Given the description of an element on the screen output the (x, y) to click on. 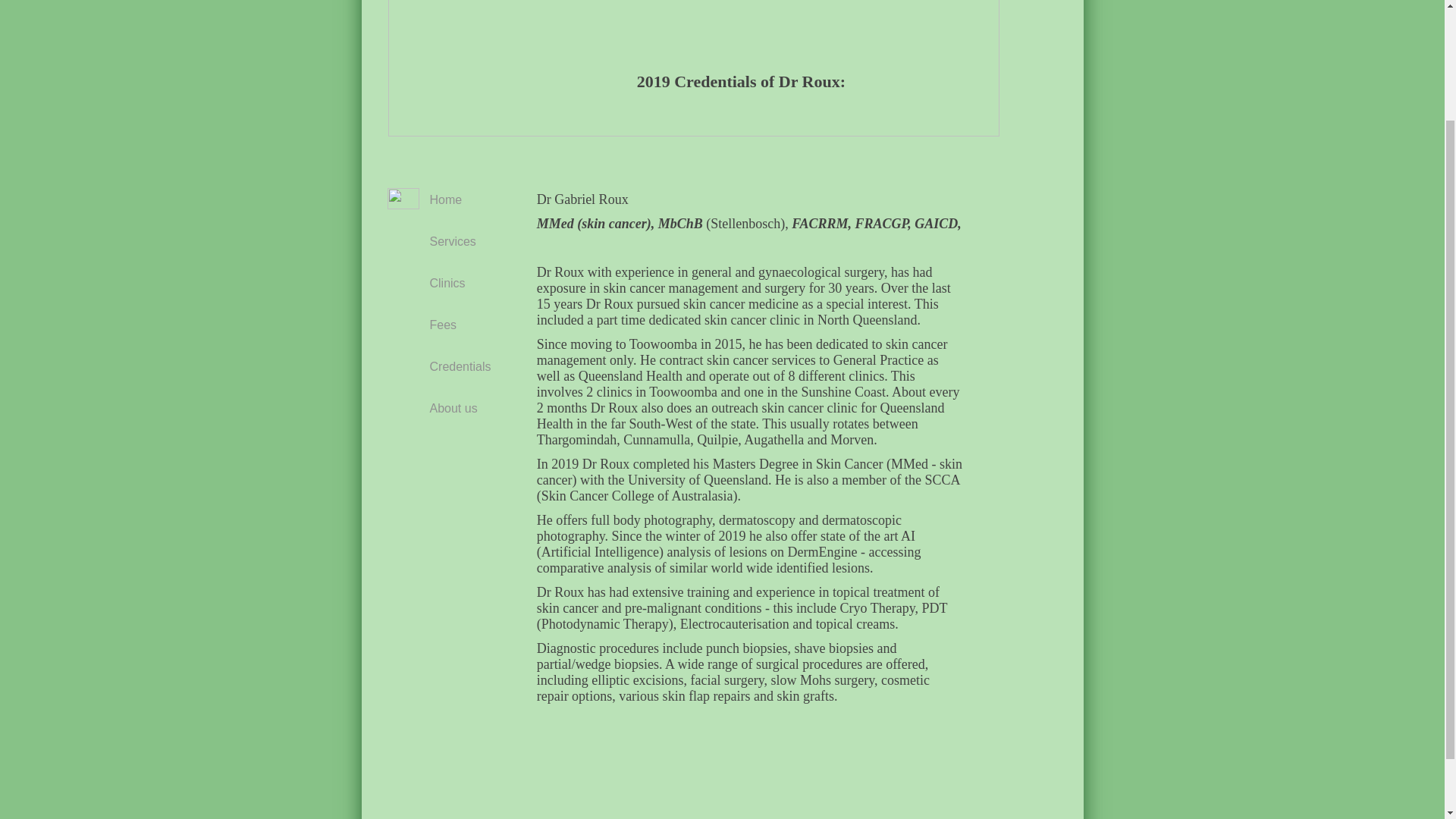
Home (453, 199)
Credentials (460, 366)
About us (453, 408)
Clinics (453, 282)
Fees (453, 324)
Services (453, 241)
